Given the description of an element on the screen output the (x, y) to click on. 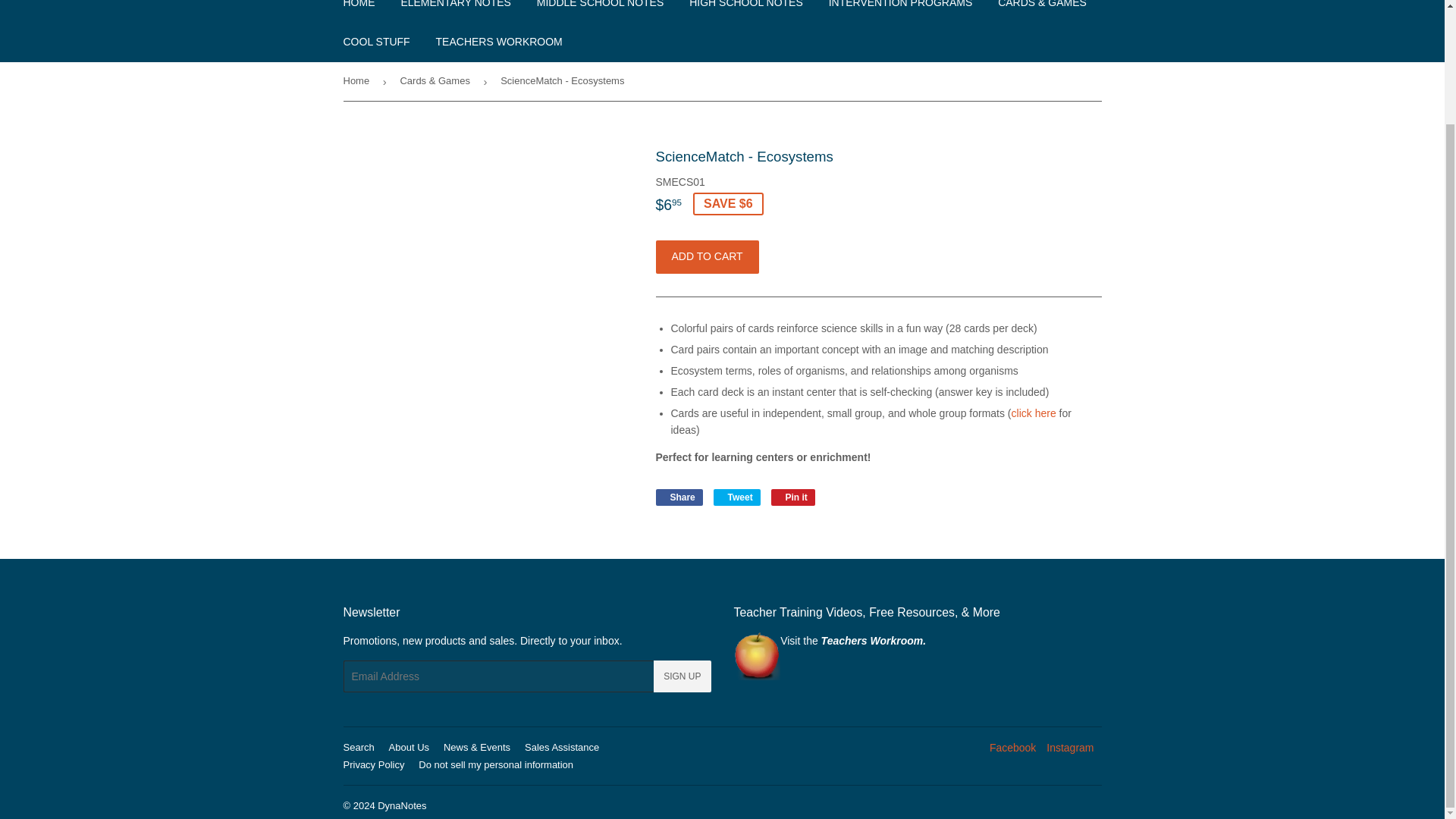
COOL STUFF (376, 41)
DynaNotes on Instagram (1069, 747)
Pin on Pinterest (793, 497)
Privacy Policy (373, 764)
TEACHERS WORKROOM (499, 41)
click here (1034, 413)
Share on Facebook (678, 497)
Search (358, 747)
DynaNotes on Facebook (1012, 747)
